Given the description of an element on the screen output the (x, y) to click on. 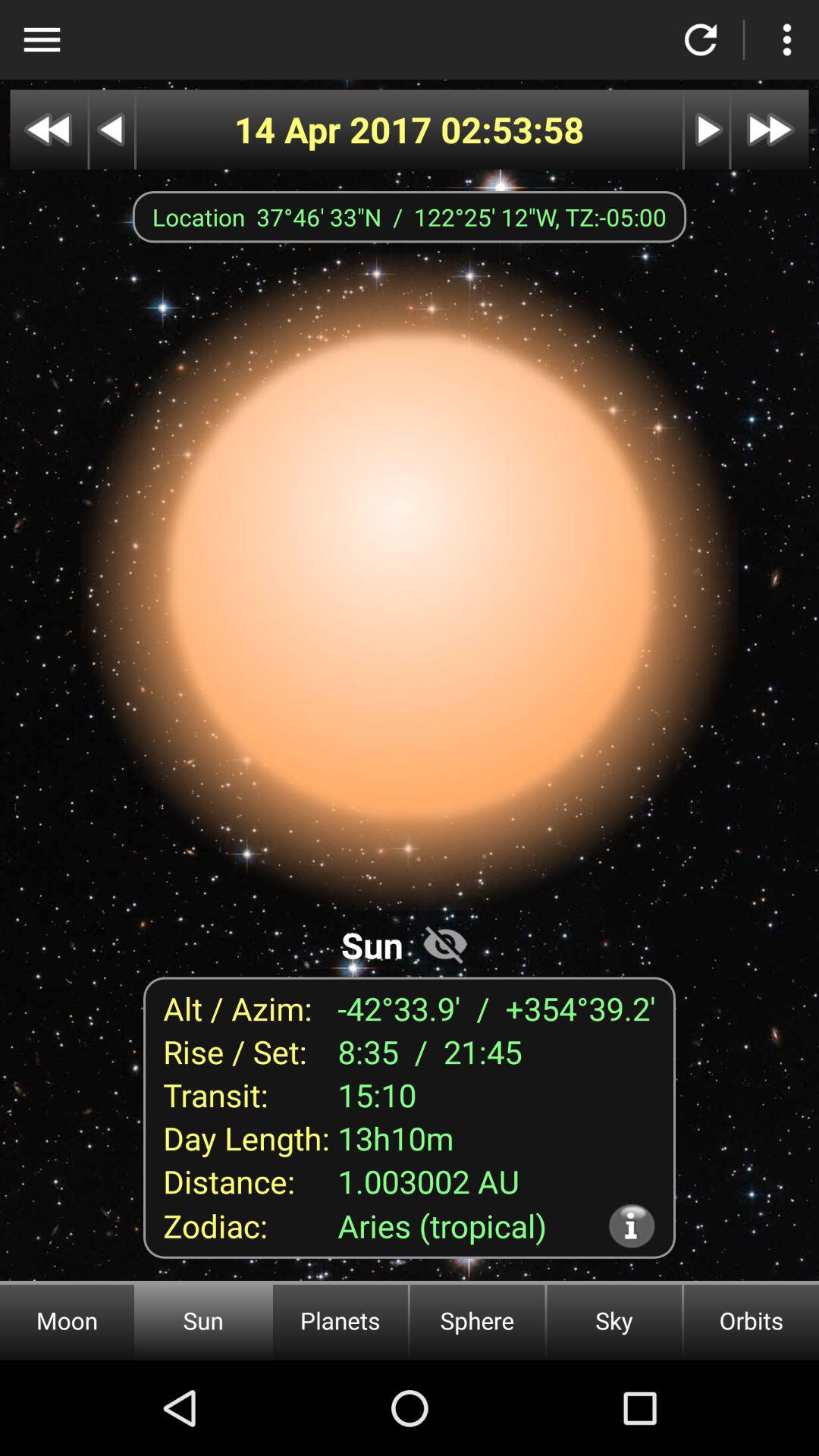
click icon below 1.003002 au (631, 1225)
